Given the description of an element on the screen output the (x, y) to click on. 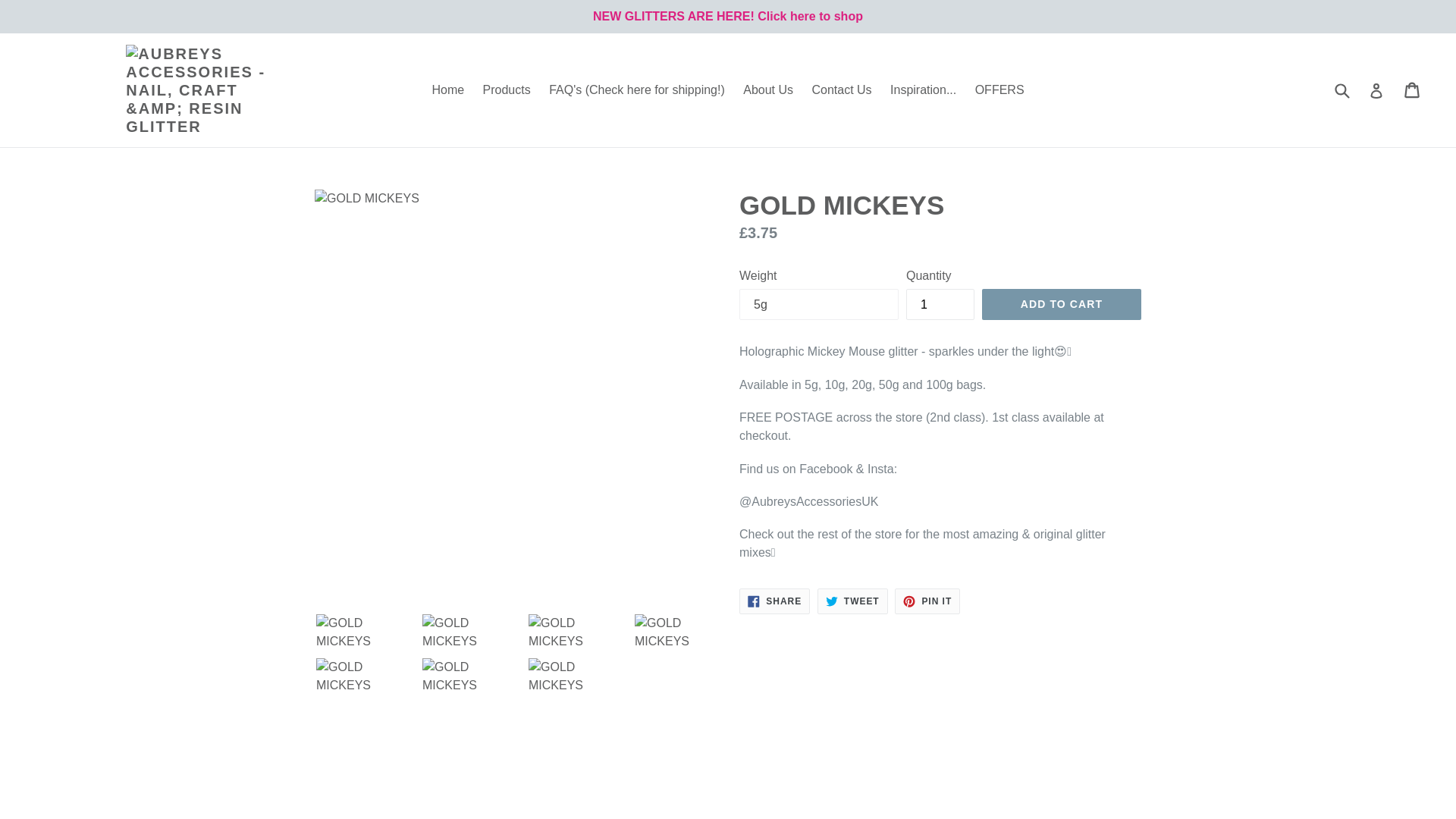
Contact Us (774, 601)
1 (841, 89)
Pin on Pinterest (939, 304)
Home (927, 601)
Tweet on Twitter (927, 601)
Share on Facebook (447, 89)
ADD TO CART (852, 601)
